Given the description of an element on the screen output the (x, y) to click on. 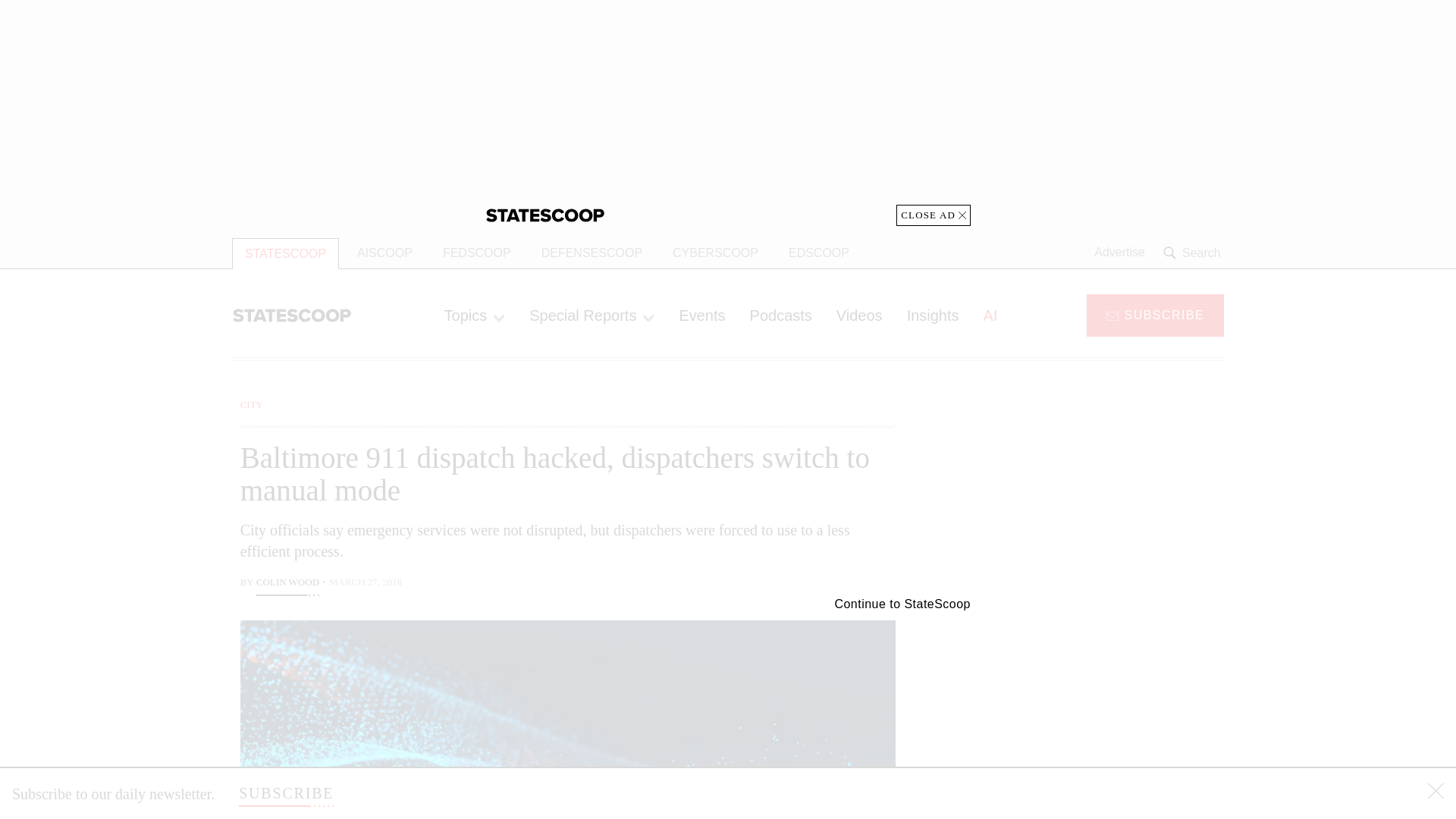
Search (1193, 252)
STATESCOOP (285, 253)
DEFENSESCOOP (591, 253)
Colin Wood (287, 583)
AI (990, 315)
EDSCOOP (818, 253)
Videos (859, 315)
Podcasts (781, 315)
Topics (475, 315)
3rd party ad content (1101, 714)
Special Reports (591, 315)
AISCOOP (385, 253)
CYBERSCOOP (715, 253)
